Given the description of an element on the screen output the (x, y) to click on. 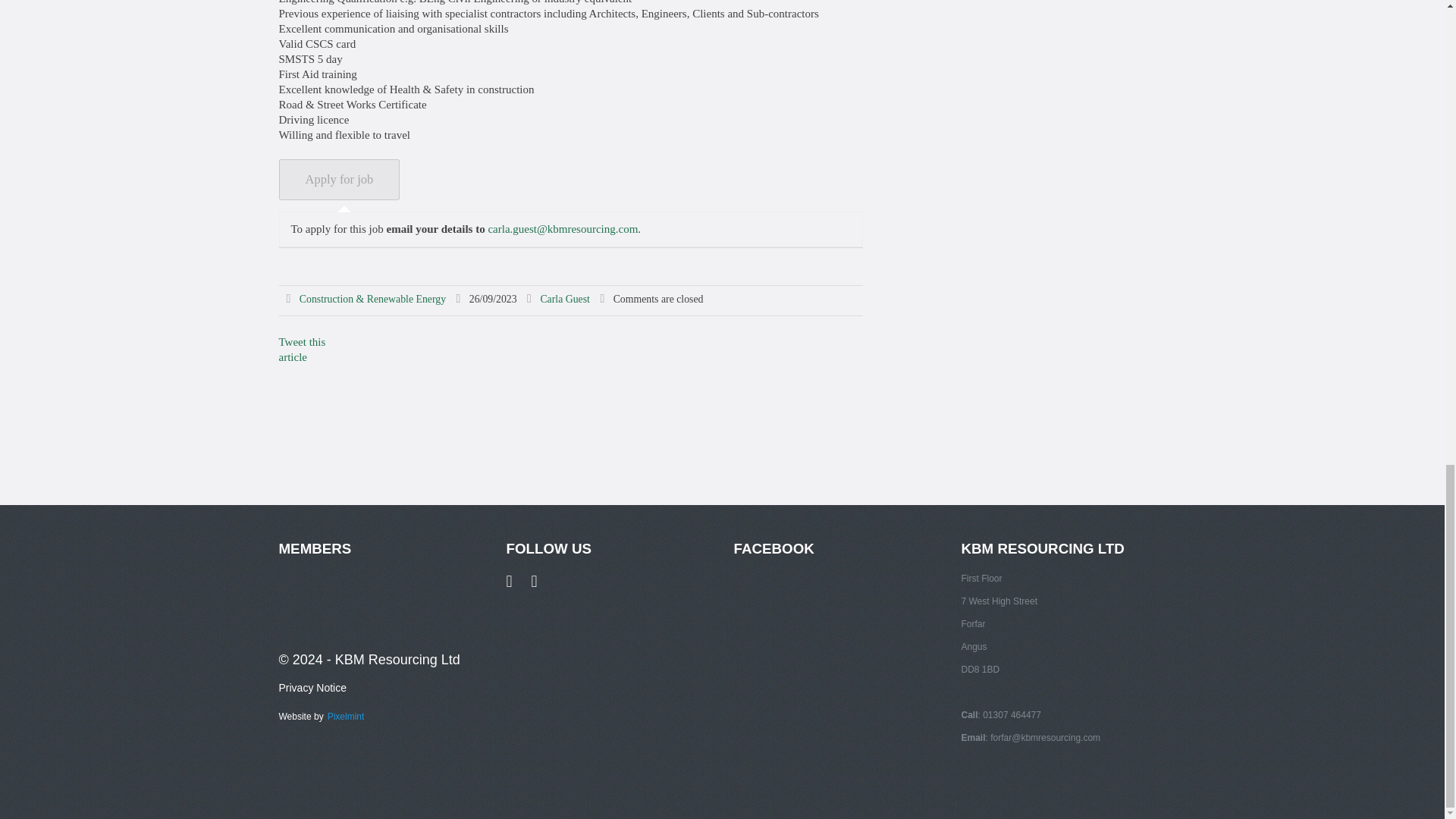
Apply for job (339, 178)
Tweet this article (302, 349)
01307 464477 (1011, 715)
Posts by Carla Guest (564, 298)
Pixelmint (346, 714)
Carla Guest (564, 298)
Privacy Notice (312, 686)
